Given the description of an element on the screen output the (x, y) to click on. 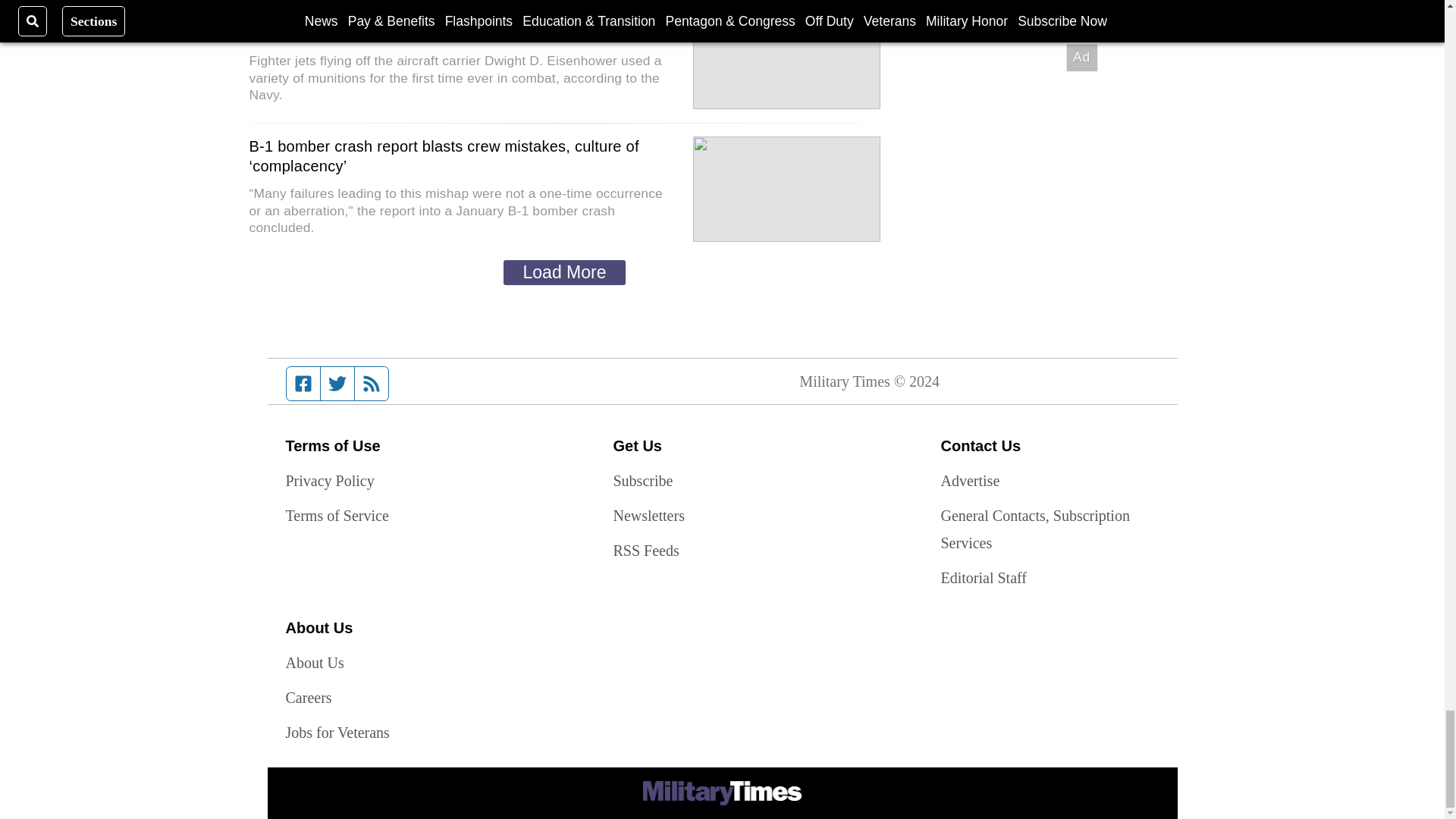
RSS feed (371, 383)
Twitter feed (336, 383)
Facebook page (303, 383)
